Given the description of an element on the screen output the (x, y) to click on. 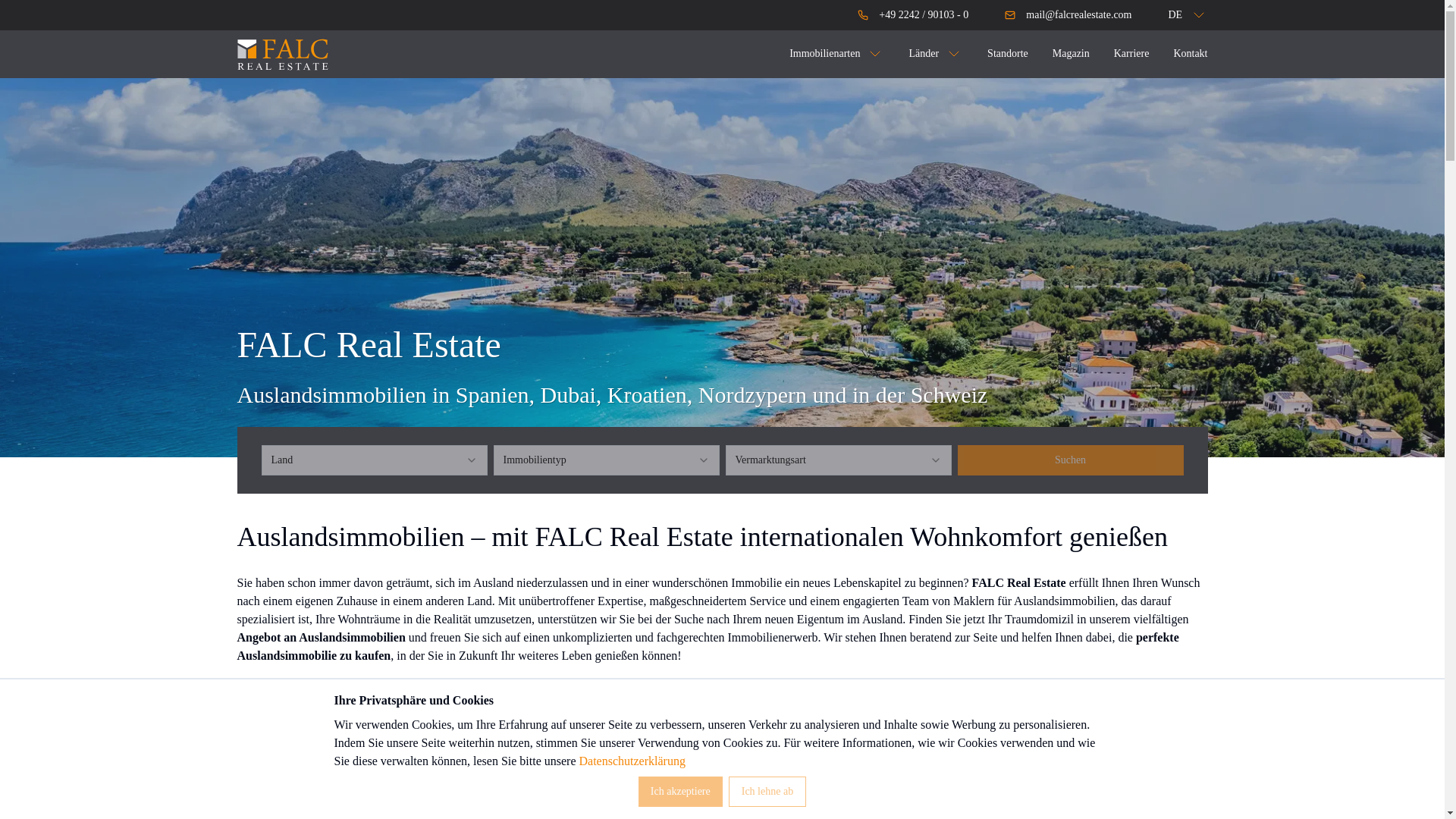
Karriere (1131, 53)
Ich akzeptiere (680, 791)
Immobilienarten (836, 54)
Standorte (1007, 53)
Kontakt (1190, 53)
Ich lehne ab (767, 791)
DE (1176, 14)
Magazin (1070, 53)
